Given the description of an element on the screen output the (x, y) to click on. 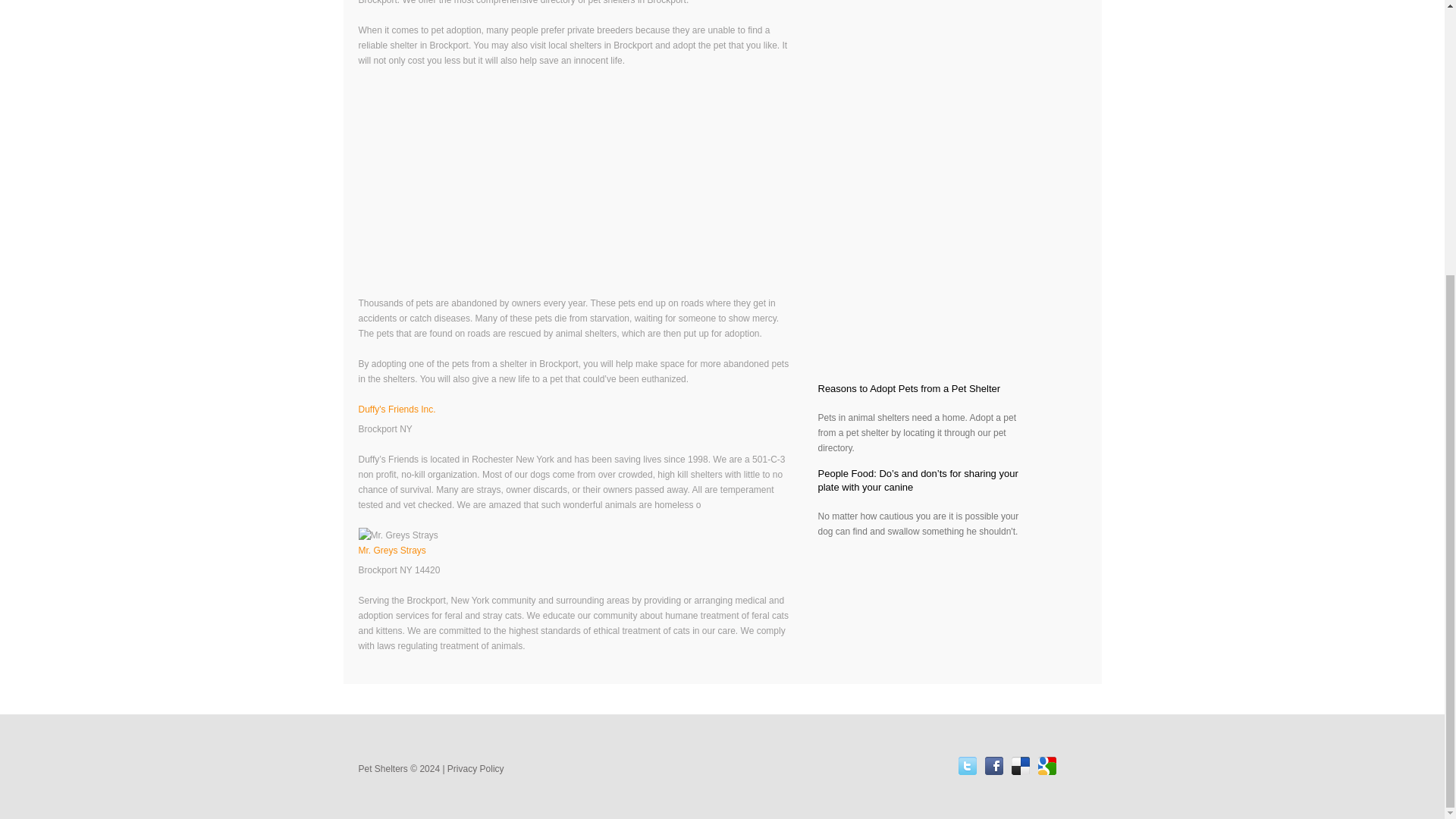
Advertisement (576, 189)
Reasons to Adopt Pets from a Pet Shelter (908, 388)
Advertisement (921, 191)
Duffy's Friends Inc.  (398, 409)
Privacy Policy (474, 768)
Mr. Greys Strays  (393, 550)
